Given the description of an element on the screen output the (x, y) to click on. 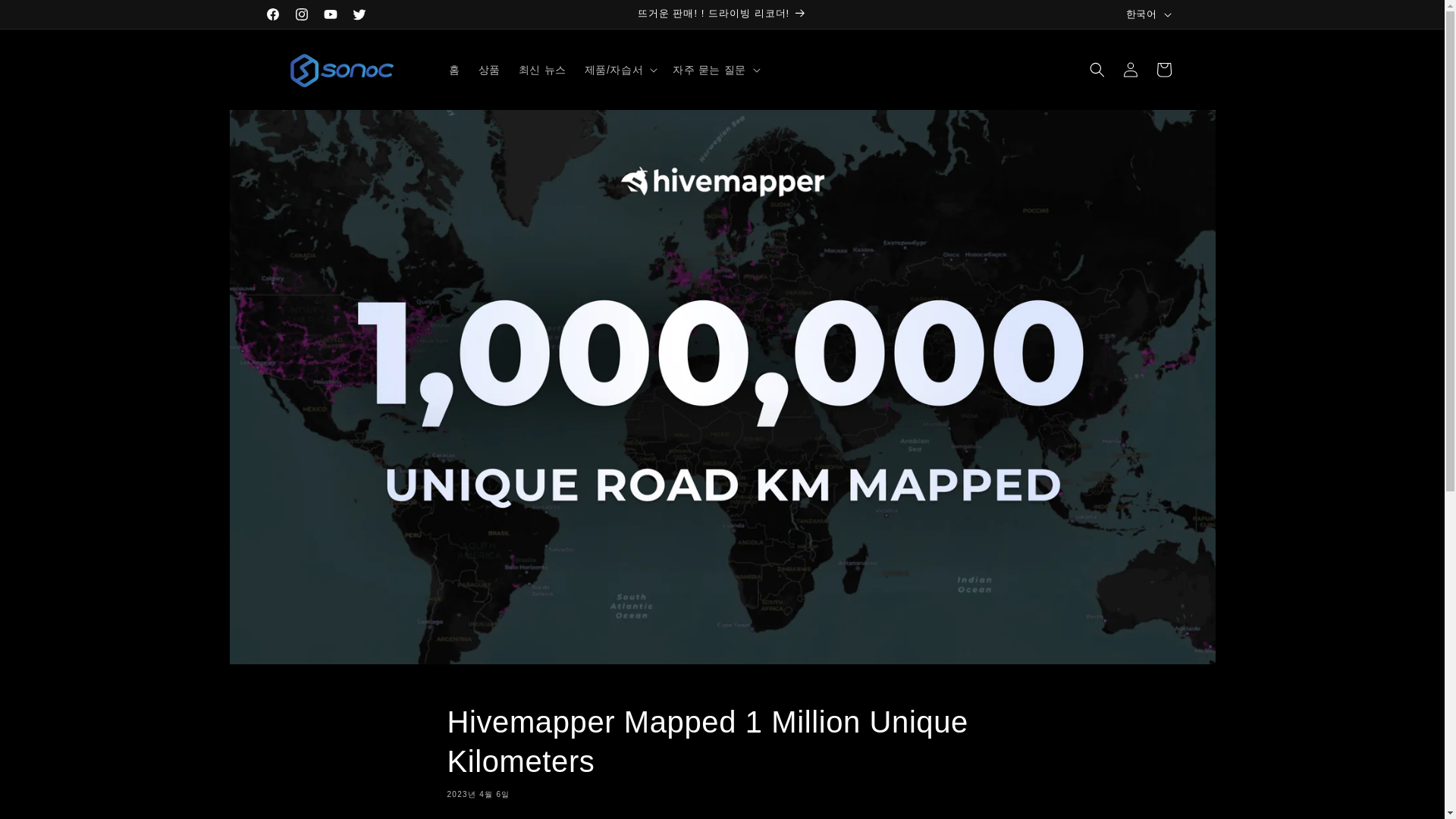
Instagram (300, 14)
Twitter (357, 14)
YouTube (329, 14)
Facebook (271, 14)
